Given the description of an element on the screen output the (x, y) to click on. 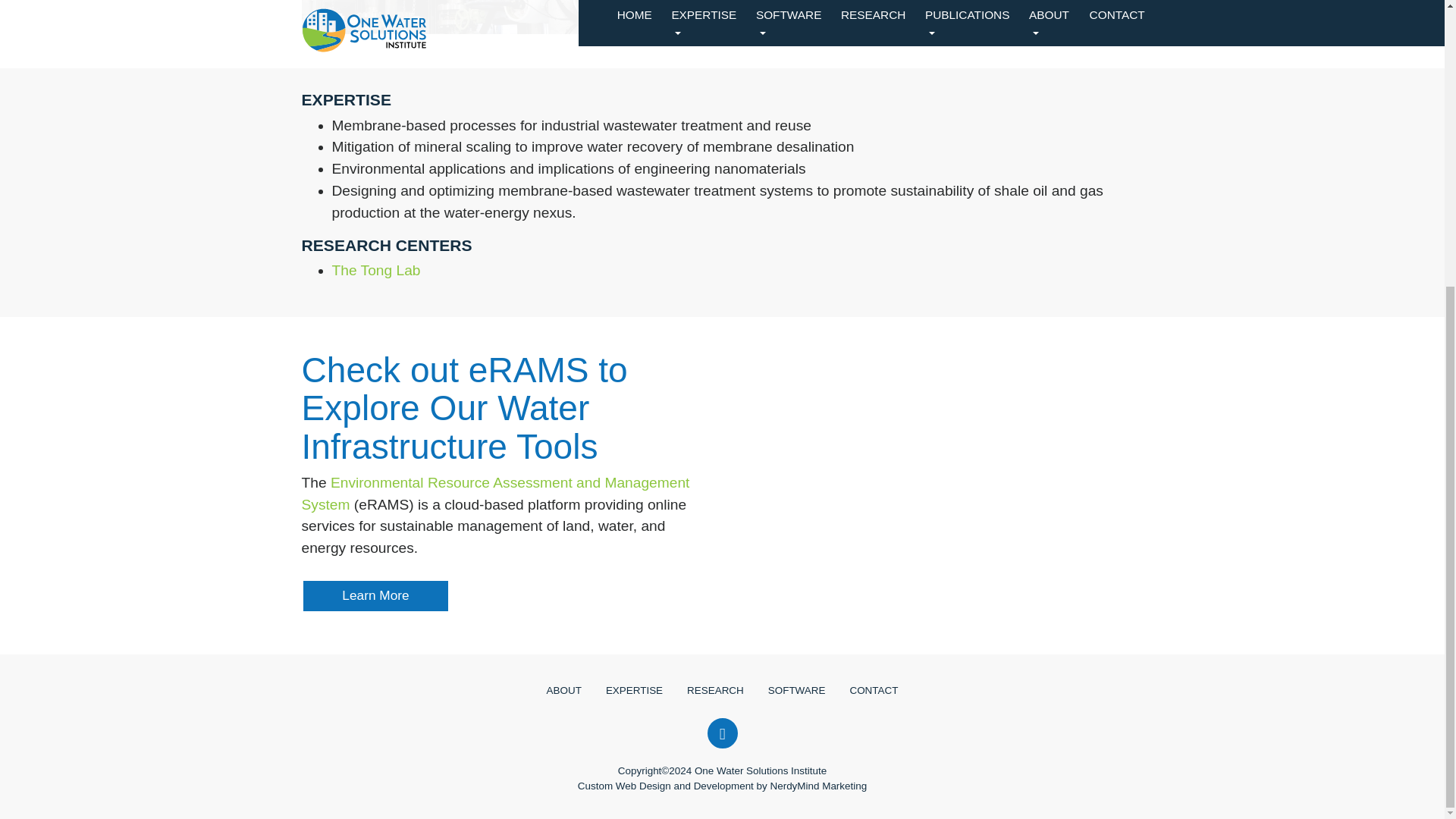
Learn More (375, 595)
SOFTWARE (796, 689)
RESEARCH (715, 689)
EXPERTISE (634, 689)
Environmental Resource Assessment and Management System (495, 493)
The Tong Lab (375, 270)
CONTACT (873, 689)
ABOUT (564, 689)
